Given the description of an element on the screen output the (x, y) to click on. 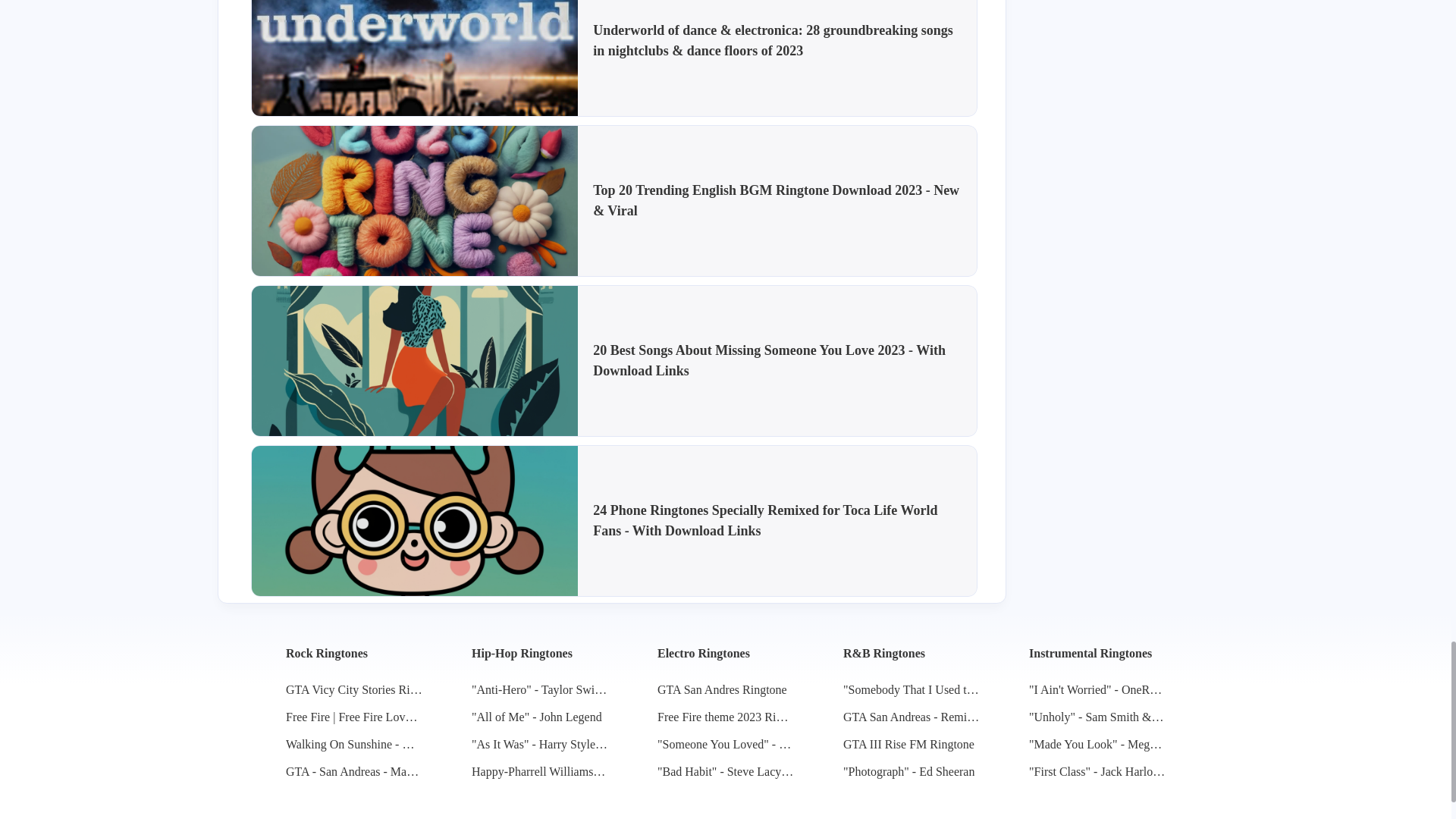
GTA San Andres Ringtone (722, 689)
Free Fire theme 2023 Ringtone (725, 717)
GTA Vicy City Stories Ringtone (353, 689)
Happy-Pharrell Williams Ringtone (539, 771)
